Given the description of an element on the screen output the (x, y) to click on. 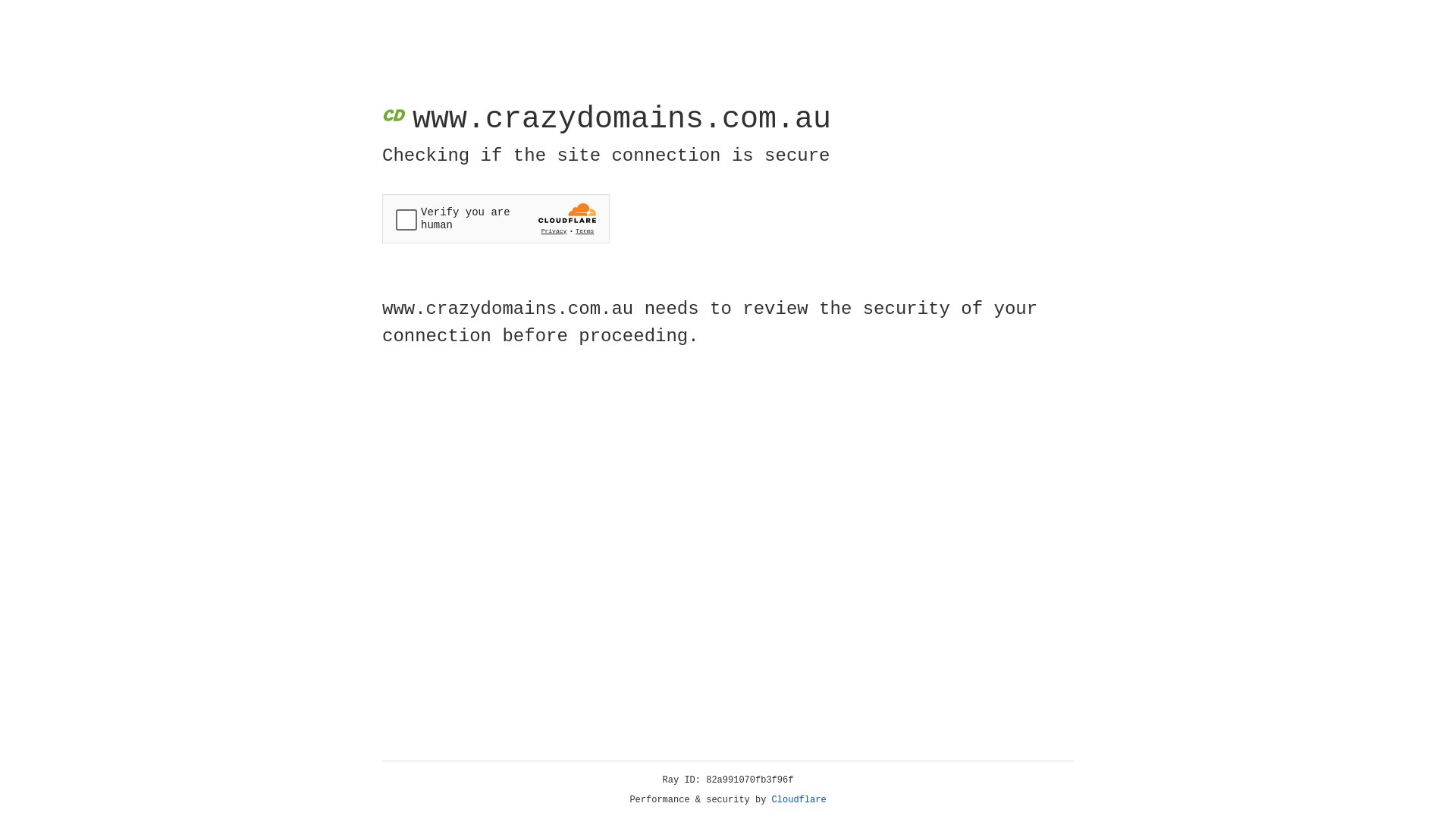
Cloudflare Element type: text (798, 799)
Widget containing a Cloudflare security challenge Element type: hover (495, 218)
